Given the description of an element on the screen output the (x, y) to click on. 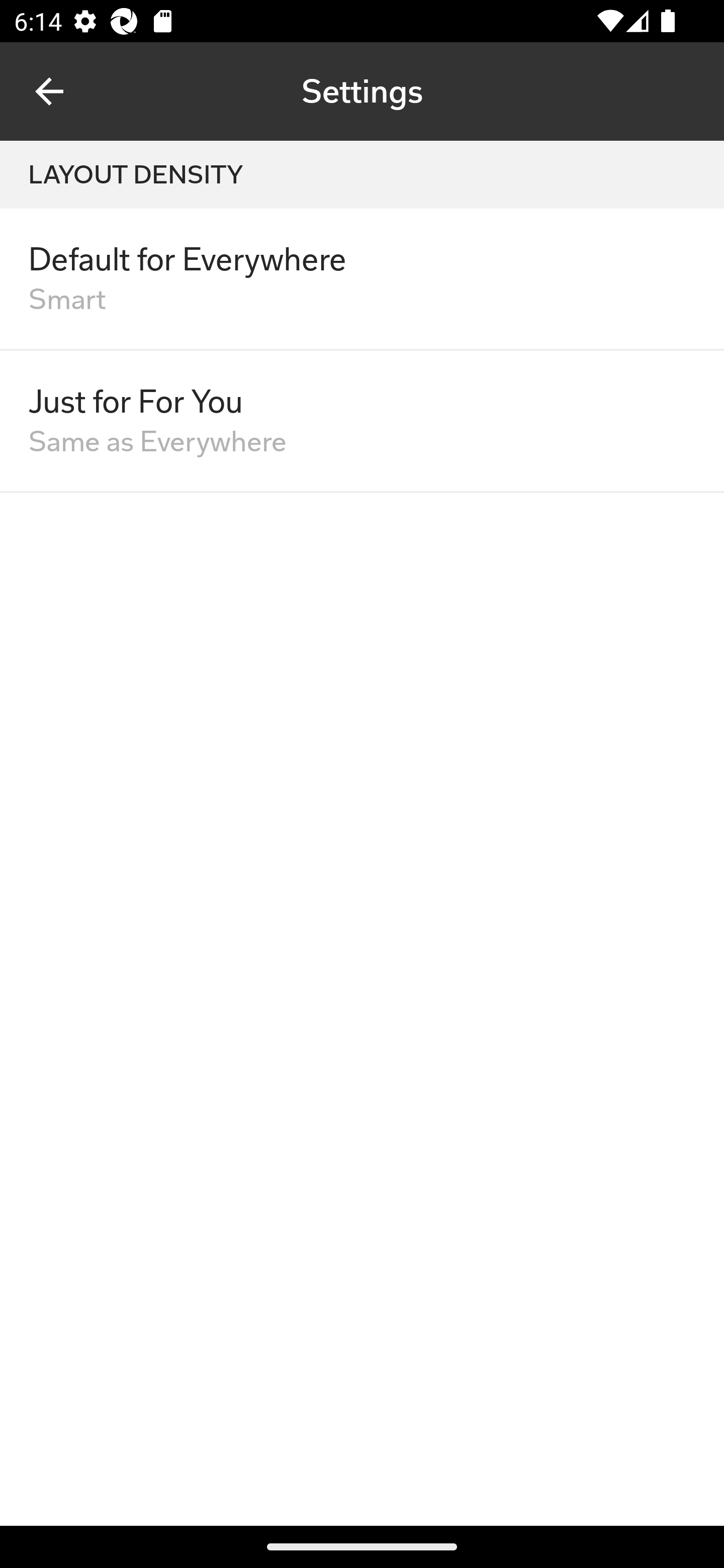
Back (49, 91)
LAYOUT DENSITY (362, 174)
Default for Everywhere Smart (362, 279)
Just for For You Same as Everywhere (362, 420)
